Given the description of an element on the screen output the (x, y) to click on. 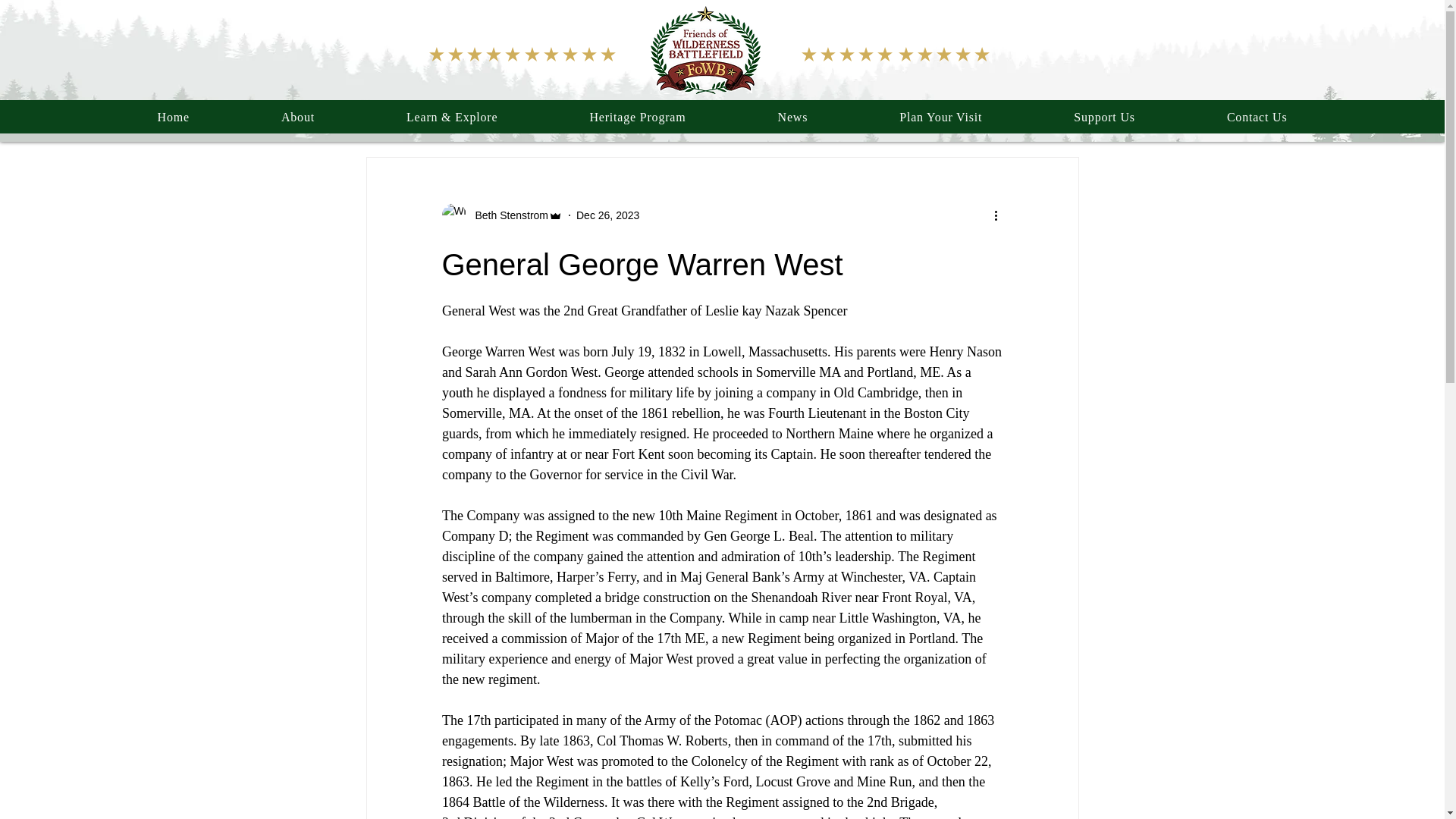
Plan Your Visit (941, 117)
Beth Stenstrom (506, 215)
Contact Us (1256, 117)
Heritage Program (638, 117)
News (792, 117)
Home (173, 117)
Dec 26, 2023 (607, 215)
